Given the description of an element on the screen output the (x, y) to click on. 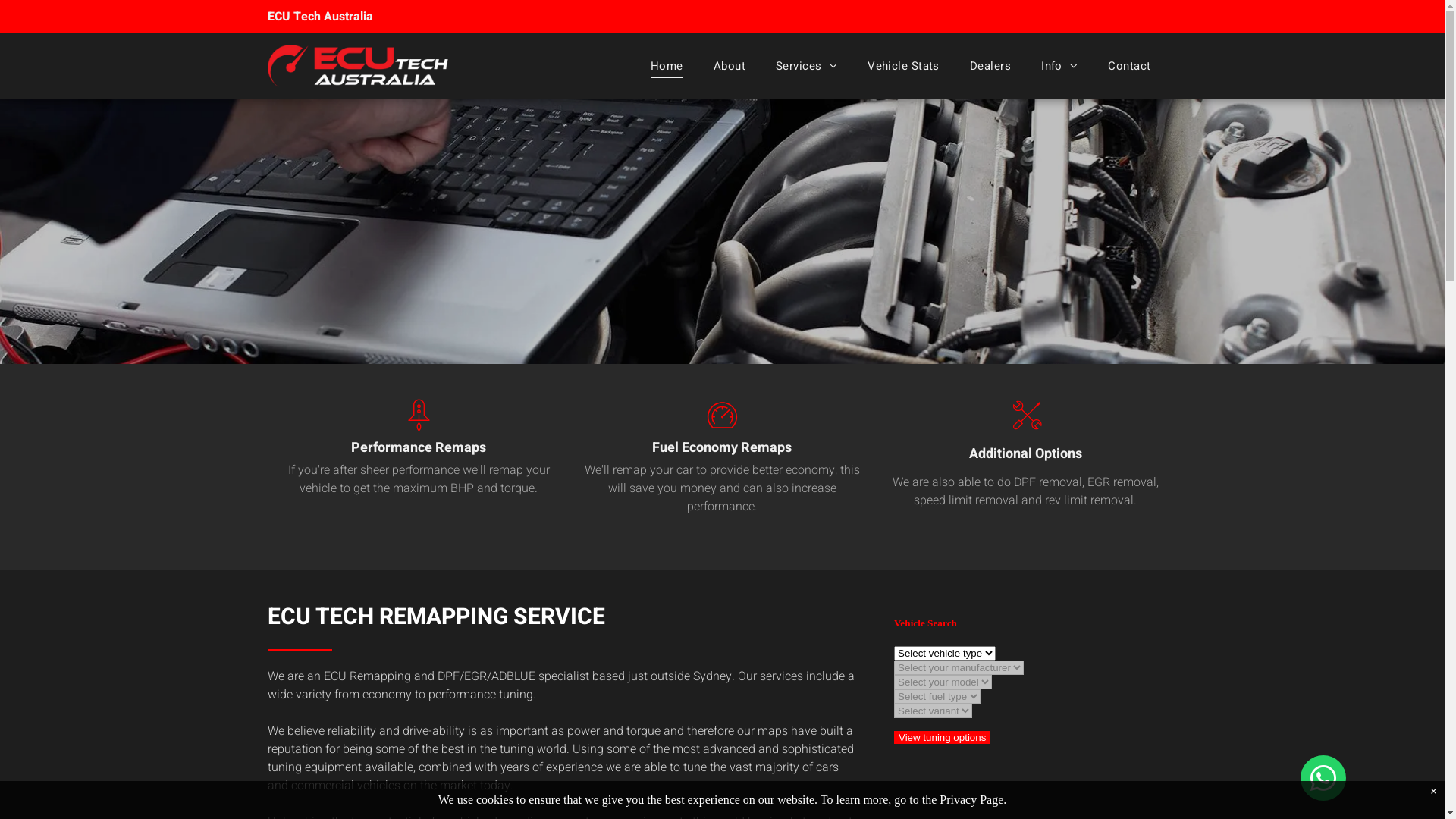
About Element type: text (729, 65)
Privacy Page Element type: text (971, 799)
Contact Element type: text (1128, 65)
Home Element type: text (666, 65)
Services Element type: text (806, 65)
Dealers Element type: text (990, 65)
Vehicle Stats Element type: text (903, 65)
Info Element type: text (1059, 65)
